Given the description of an element on the screen output the (x, y) to click on. 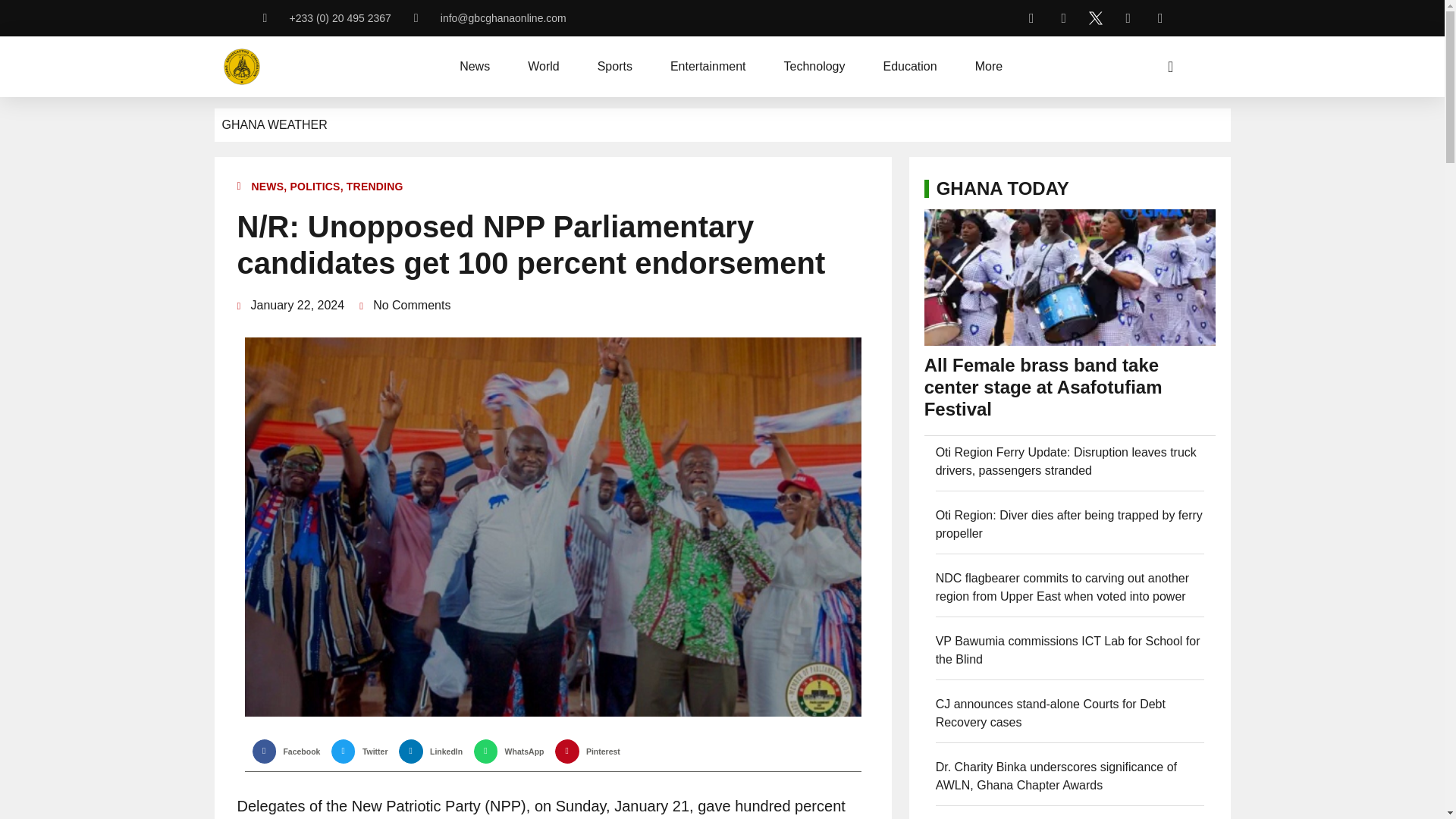
Sports (613, 66)
Education (909, 66)
Technology (814, 66)
World (543, 66)
Entertainment (707, 66)
